Given the description of an element on the screen output the (x, y) to click on. 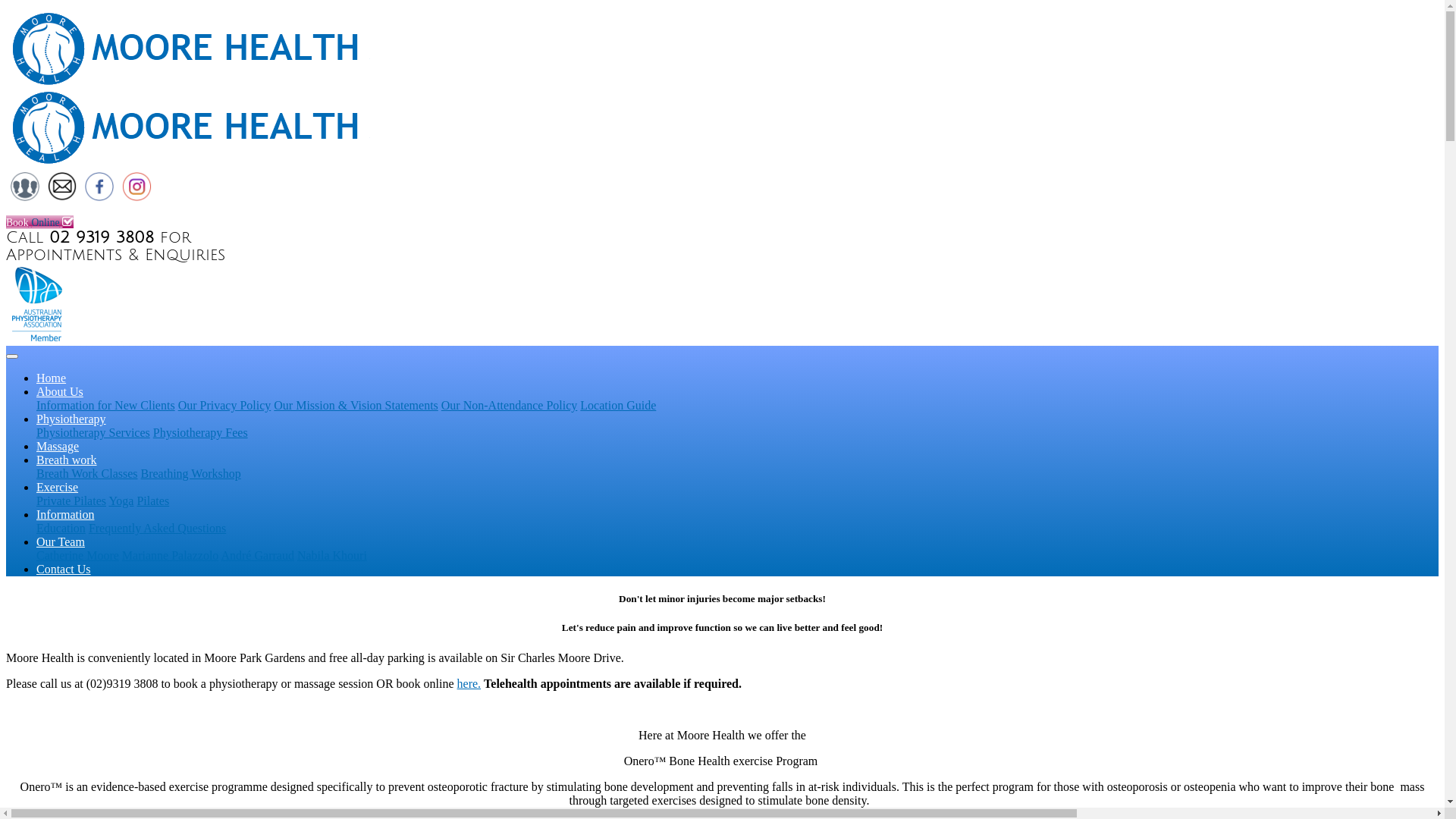
Physiotherapy Element type: text (71, 418)
Education Element type: text (60, 527)
Breath work Element type: text (66, 459)
Australian Physiotherapy Association Element type: hover (38, 338)
Our Non-Attendance Policy Element type: text (509, 404)
Our Team Element type: text (60, 541)
here. Element type: text (469, 683)
Book Online  Element type: text (722, 208)
Follow us on Facebook Element type: hover (99, 197)
Contact Us Element type: text (63, 568)
Meet Our Team Element type: hover (24, 197)
Physiotherapy Fees Element type: text (200, 432)
Breathing Workshop Element type: text (191, 473)
Catherine Moore Element type: text (77, 555)
Physiotherapy Services Element type: text (93, 432)
Contact Us Element type: hover (62, 197)
Book Online Element type: text (39, 221)
Yoga Element type: text (120, 500)
Massage Element type: text (57, 445)
Pilates Element type: text (152, 500)
Follow us on Instagram Element type: hover (136, 197)
Exercise Element type: text (57, 486)
Information Element type: text (65, 514)
Marianne Palazzolo Element type: text (170, 555)
Nabila Khouri Element type: text (332, 555)
Information for New Clients Element type: text (105, 404)
About Us Element type: text (59, 391)
Breath Work Classes Element type: text (87, 473)
Our Privacy Policy Element type: text (224, 404)
Frequently Asked Questions Element type: text (156, 527)
Our Mission & Vision Statements Element type: text (355, 404)
Location Guide Element type: text (617, 404)
Home Element type: text (50, 377)
Private Pilates Element type: text (71, 500)
